Given the description of an element on the screen output the (x, y) to click on. 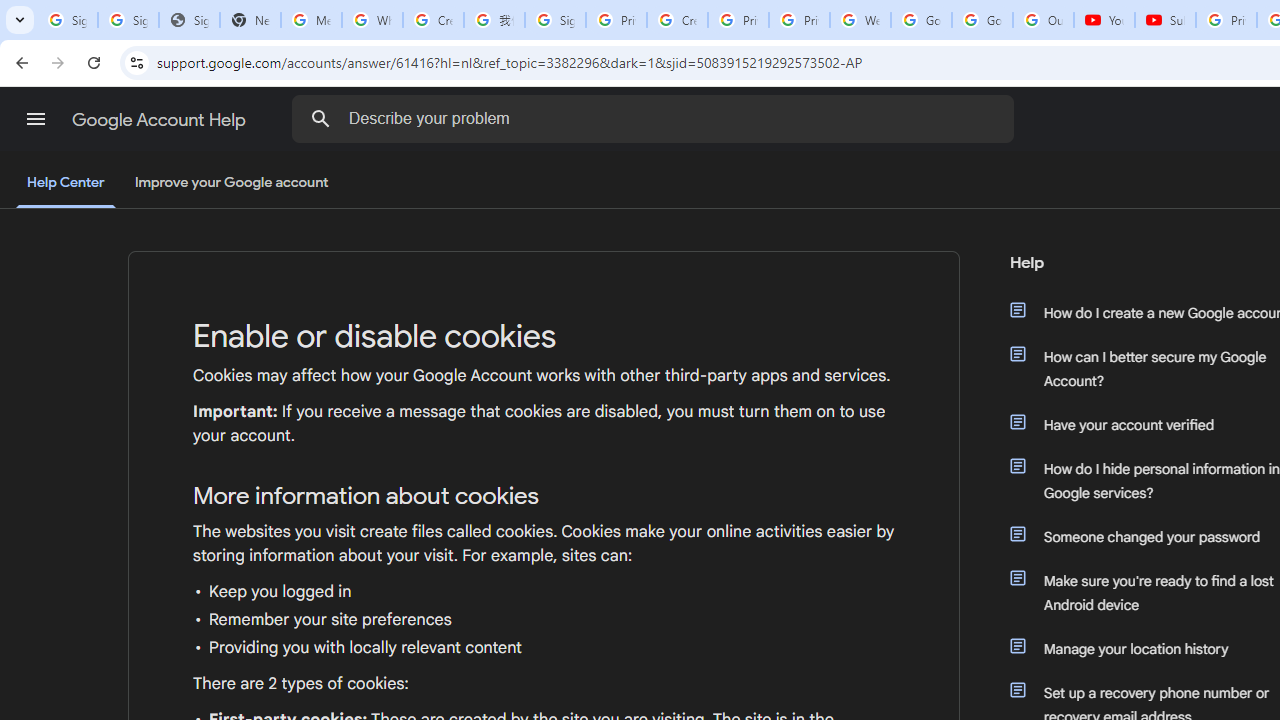
YouTube (1104, 20)
Welcome to My Activity (859, 20)
